Given the description of an element on the screen output the (x, y) to click on. 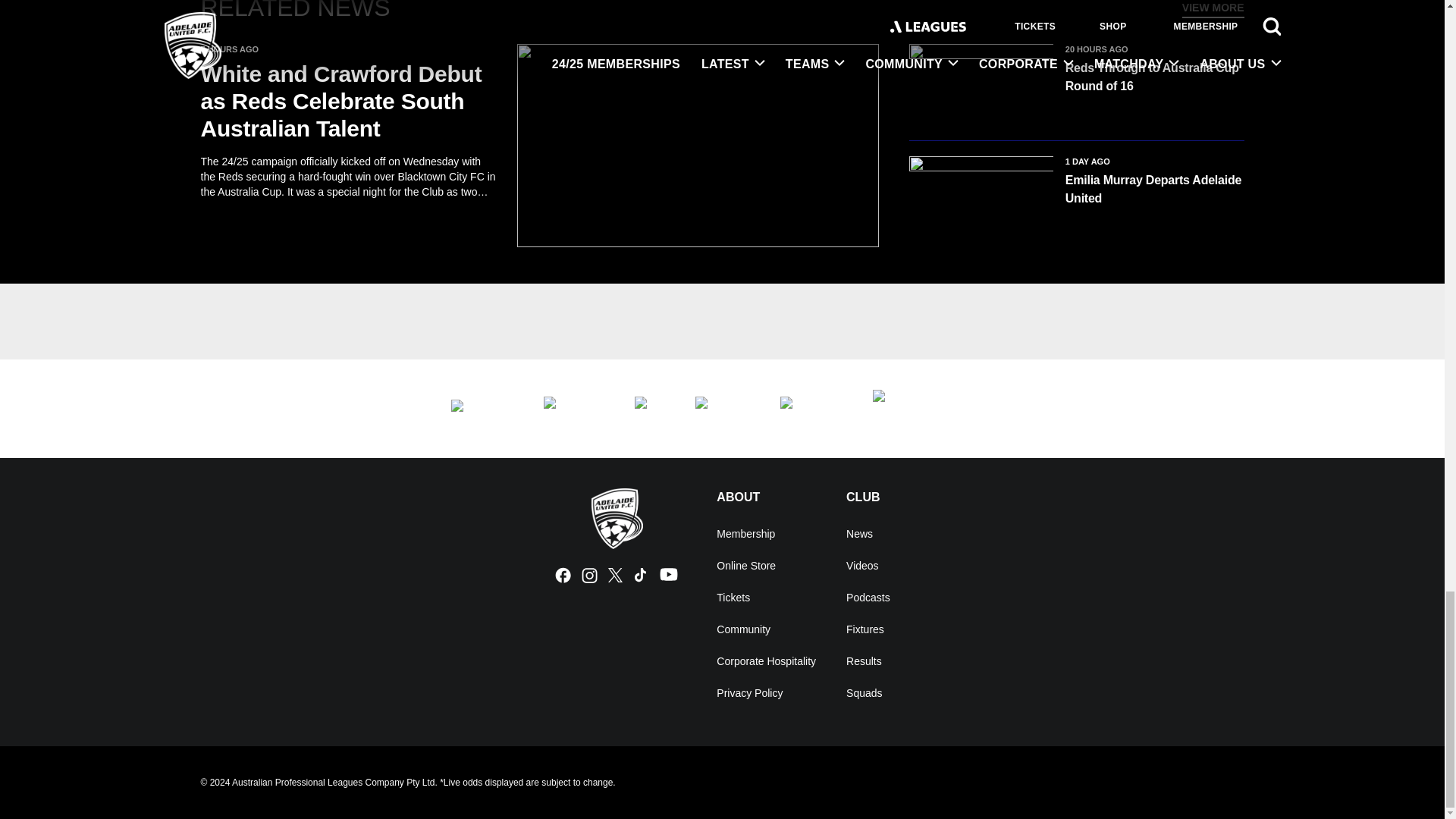
VAILO (809, 408)
Flinders University (480, 408)
UCAN (573, 408)
RAA (932, 408)
Kite Property (721, 408)
